Given the description of an element on the screen output the (x, y) to click on. 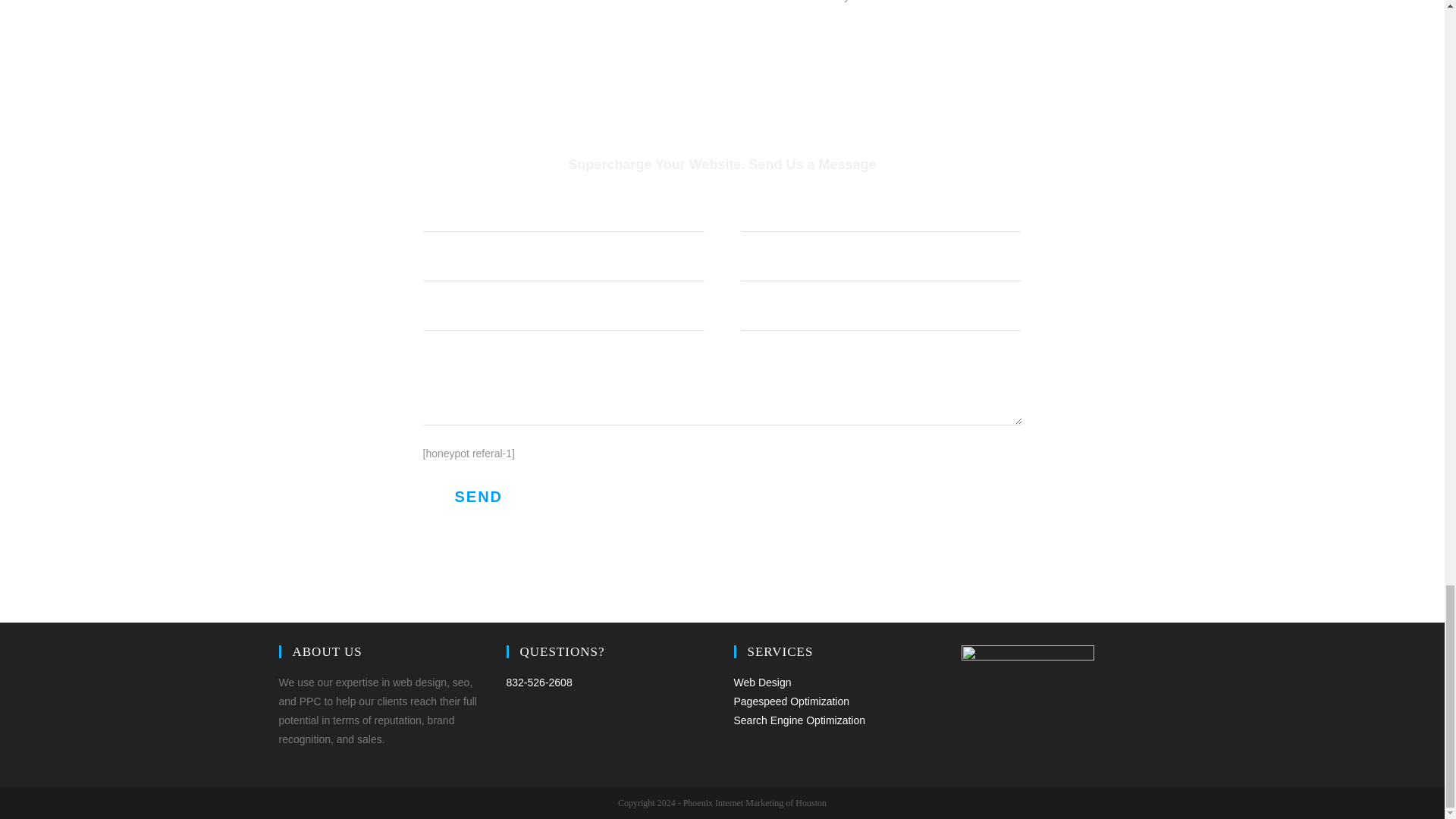
Pagespeed Optimization (791, 701)
Web Design (762, 682)
832-526-2608 (539, 682)
Search Engine Optimization (799, 720)
Send (479, 496)
Send (479, 496)
